Given the description of an element on the screen output the (x, y) to click on. 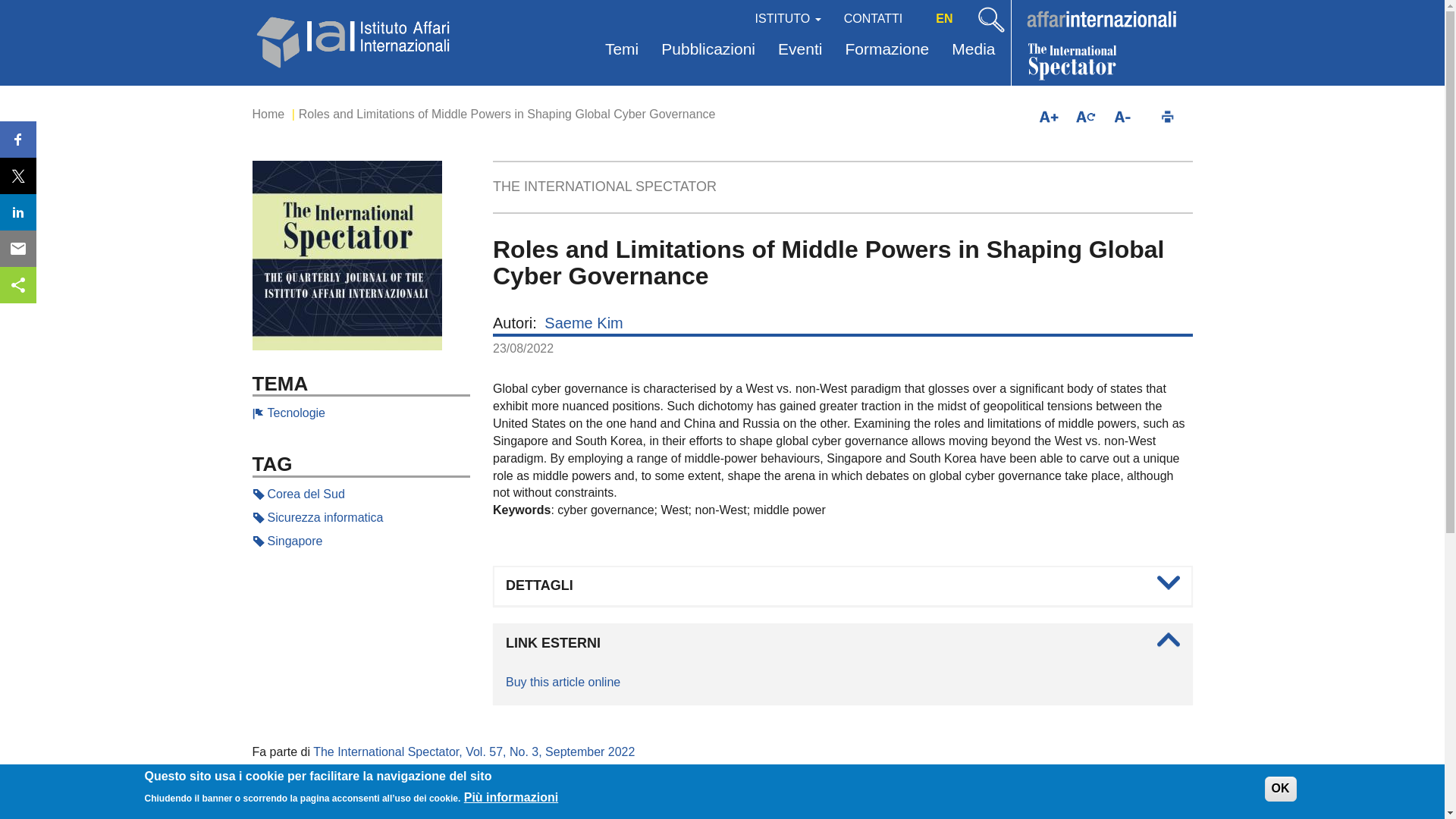
ISTITUTO (788, 16)
CONTATTI (873, 16)
go to Home page (354, 38)
Home (267, 113)
Formazione (886, 49)
Eventi (799, 49)
Media (973, 49)
Pubblicazioni (708, 49)
Temi (621, 49)
EN (943, 18)
